Given the description of an element on the screen output the (x, y) to click on. 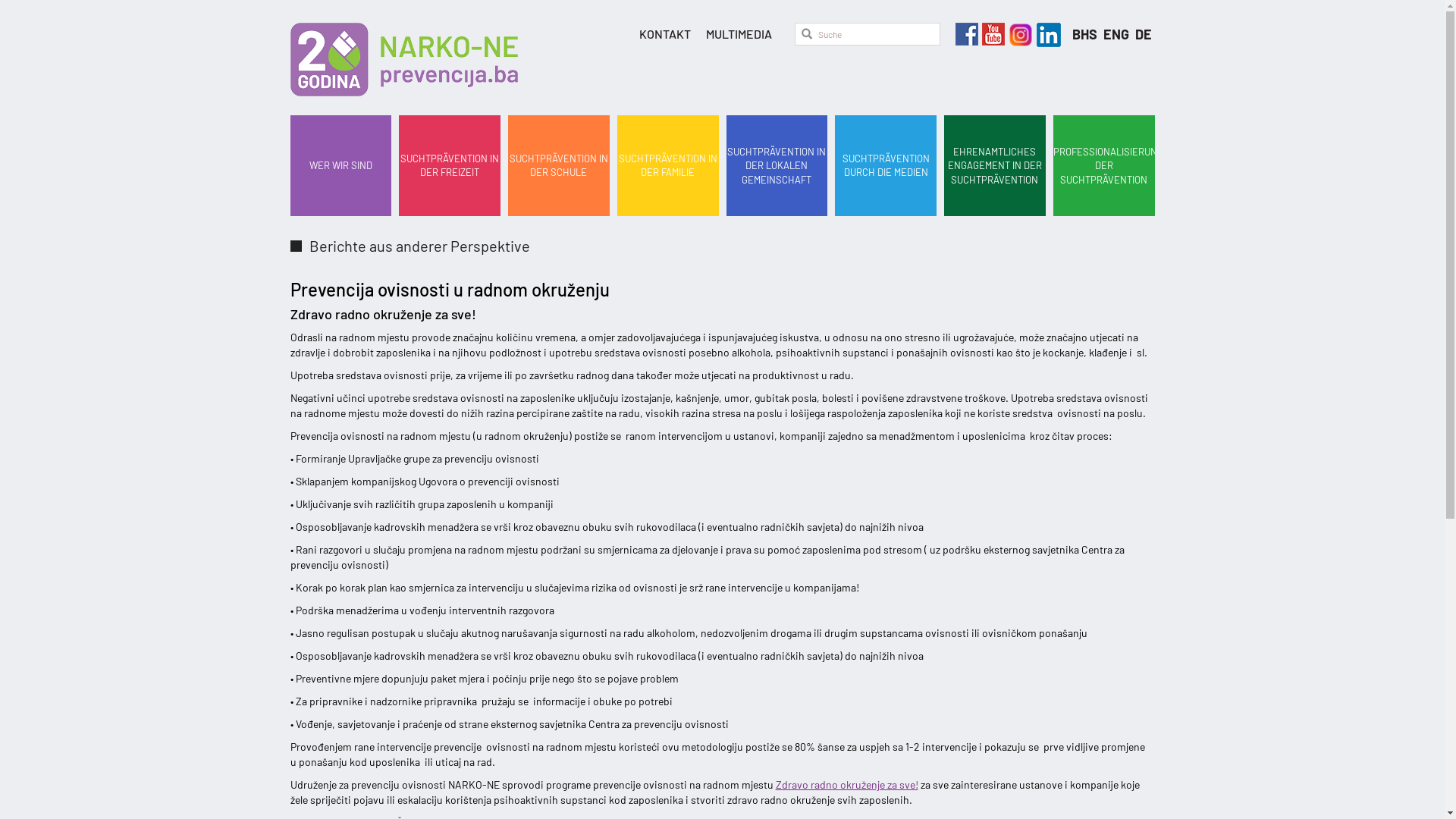
ENG Element type: text (1116, 33)
Instagram Element type: hover (1046, 29)
Youtube Element type: hover (991, 29)
BHS Element type: text (1086, 33)
Berichte aus anderer Perspektive Element type: text (725, 245)
MULTIMEDIA Element type: text (738, 33)
DE Element type: text (1142, 33)
WER WIR SIND Element type: text (340, 165)
Instagram Element type: hover (1018, 29)
KONTAKT Element type: text (664, 33)
